Given the description of an element on the screen output the (x, y) to click on. 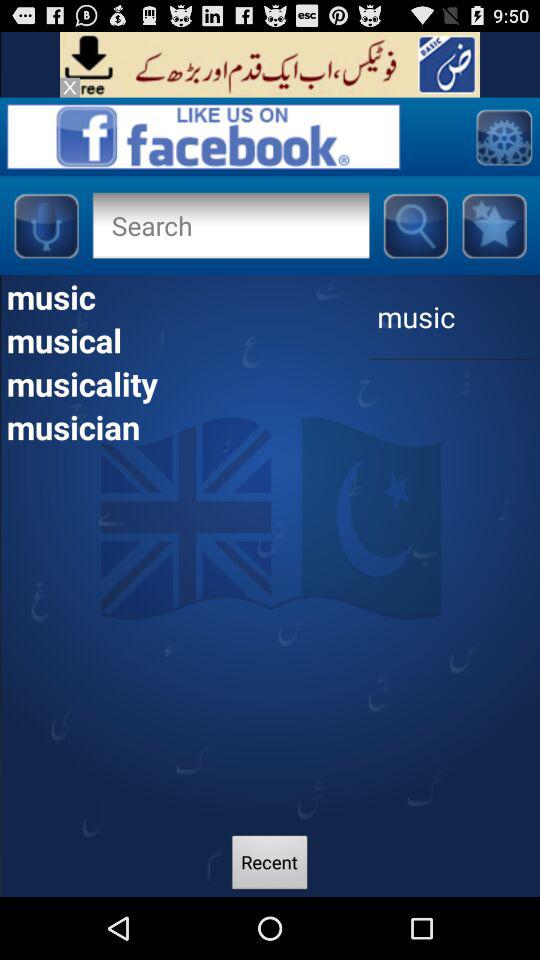
search bar (230, 225)
